Given the description of an element on the screen output the (x, y) to click on. 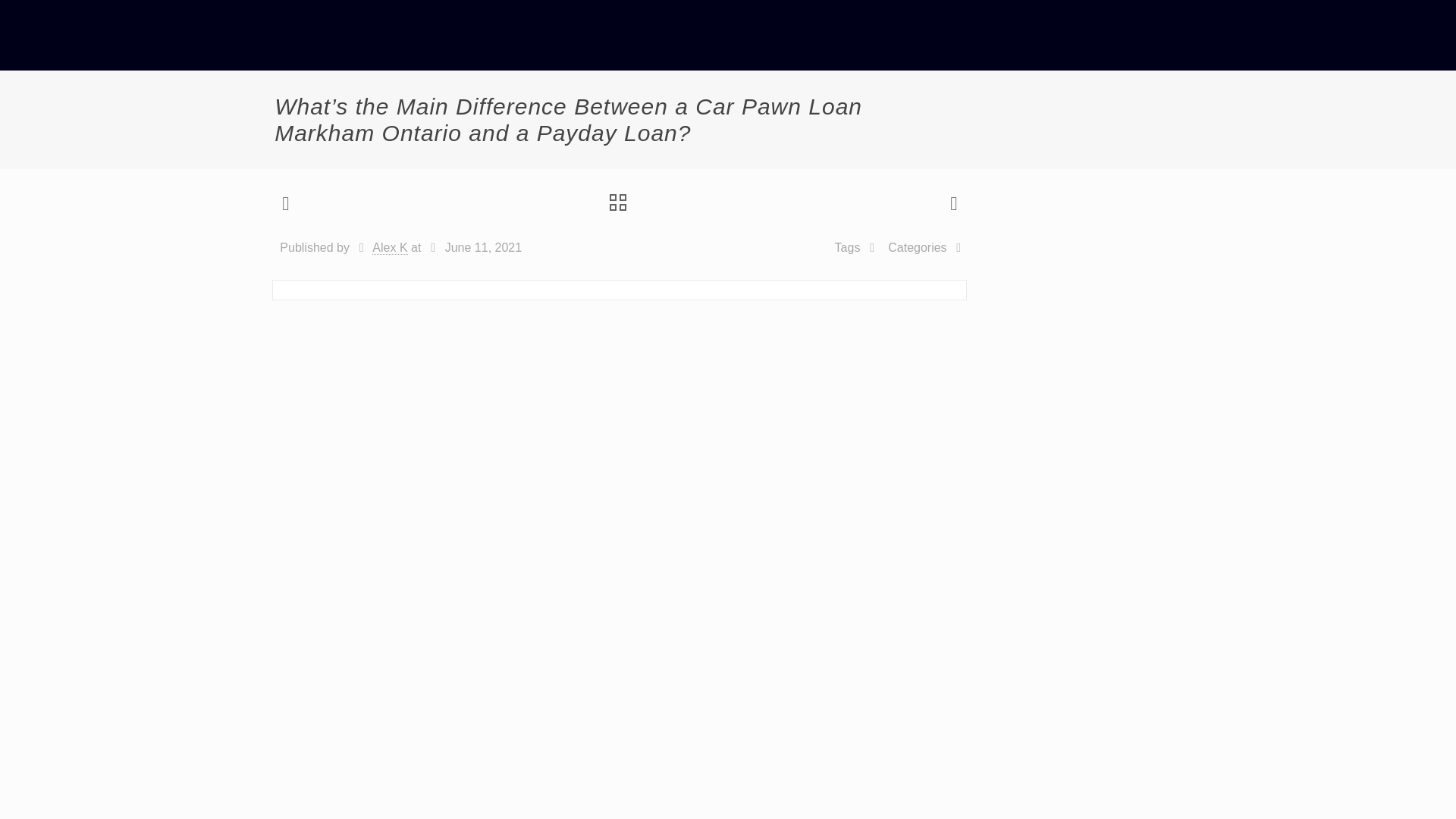
Alex K (389, 247)
